Given the description of an element on the screen output the (x, y) to click on. 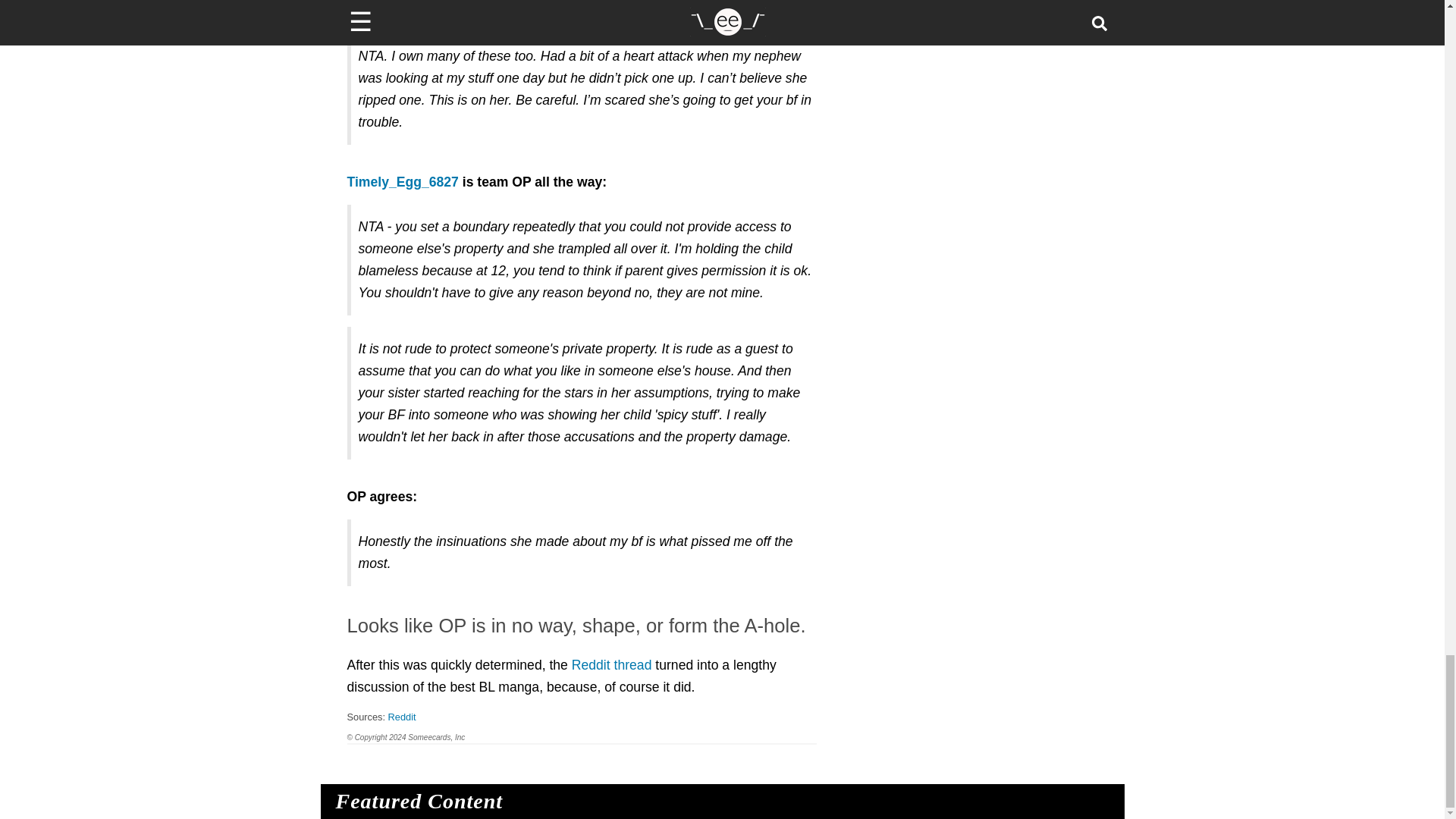
Reddit thread (612, 664)
svgjen (368, 11)
Reddit (402, 716)
